Given the description of an element on the screen output the (x, y) to click on. 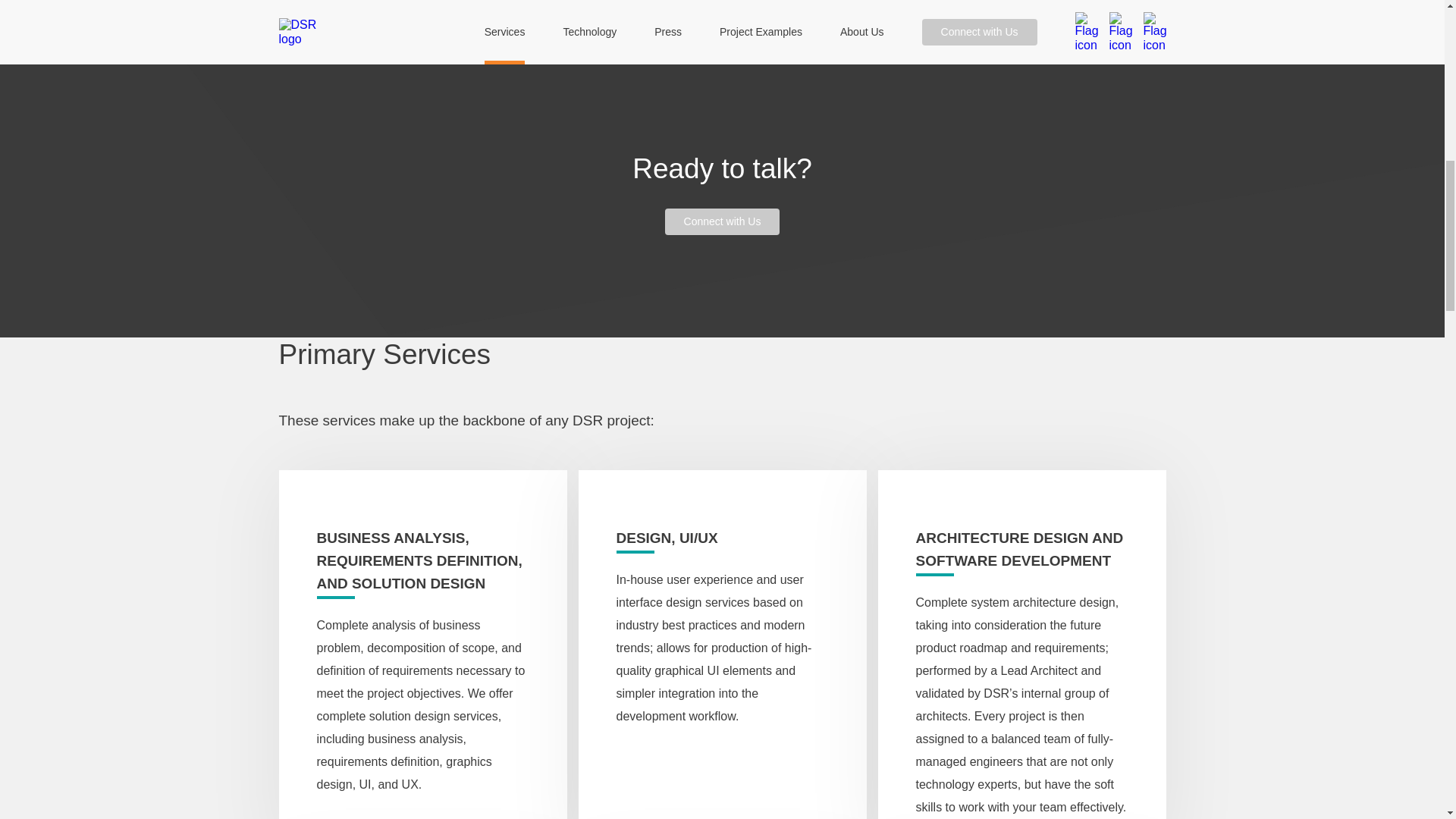
System Development (900, 18)
Mobile (722, 18)
Connect with Us (722, 221)
Desktop Solutions (1081, 18)
